Given the description of an element on the screen output the (x, y) to click on. 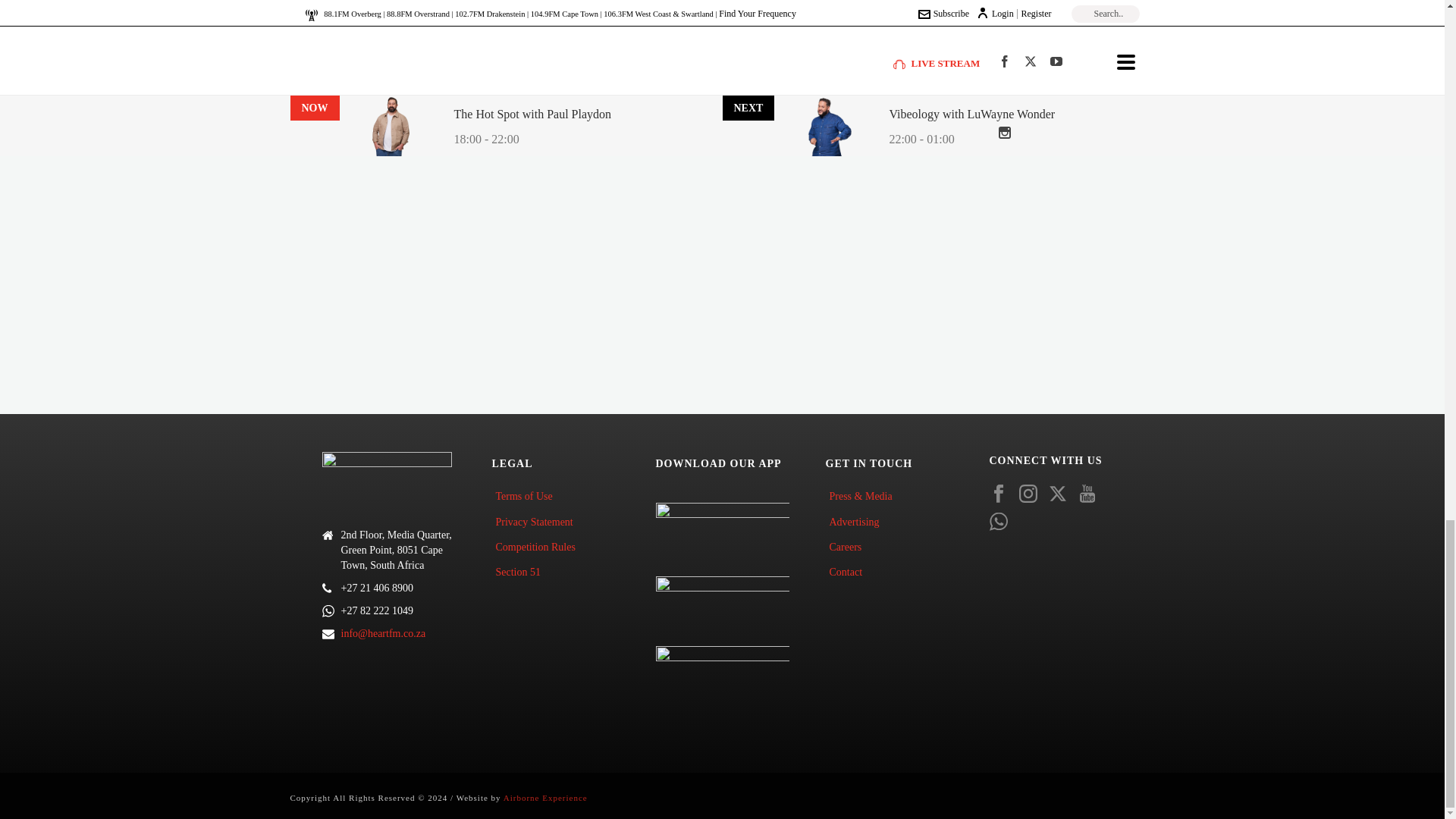
Alleged killer arrested (920, 23)
Follow Us on youtube (1087, 494)
Advocacy group slams decision to release killer cop (975, 98)
Competition Rules (539, 546)
Follow Us on instagram (1027, 494)
Privacy Statement (537, 521)
Section 51 (521, 571)
Water outage for some Cape Town suburbs (965, 56)
Terms of Use (527, 496)
